Given the description of an element on the screen output the (x, y) to click on. 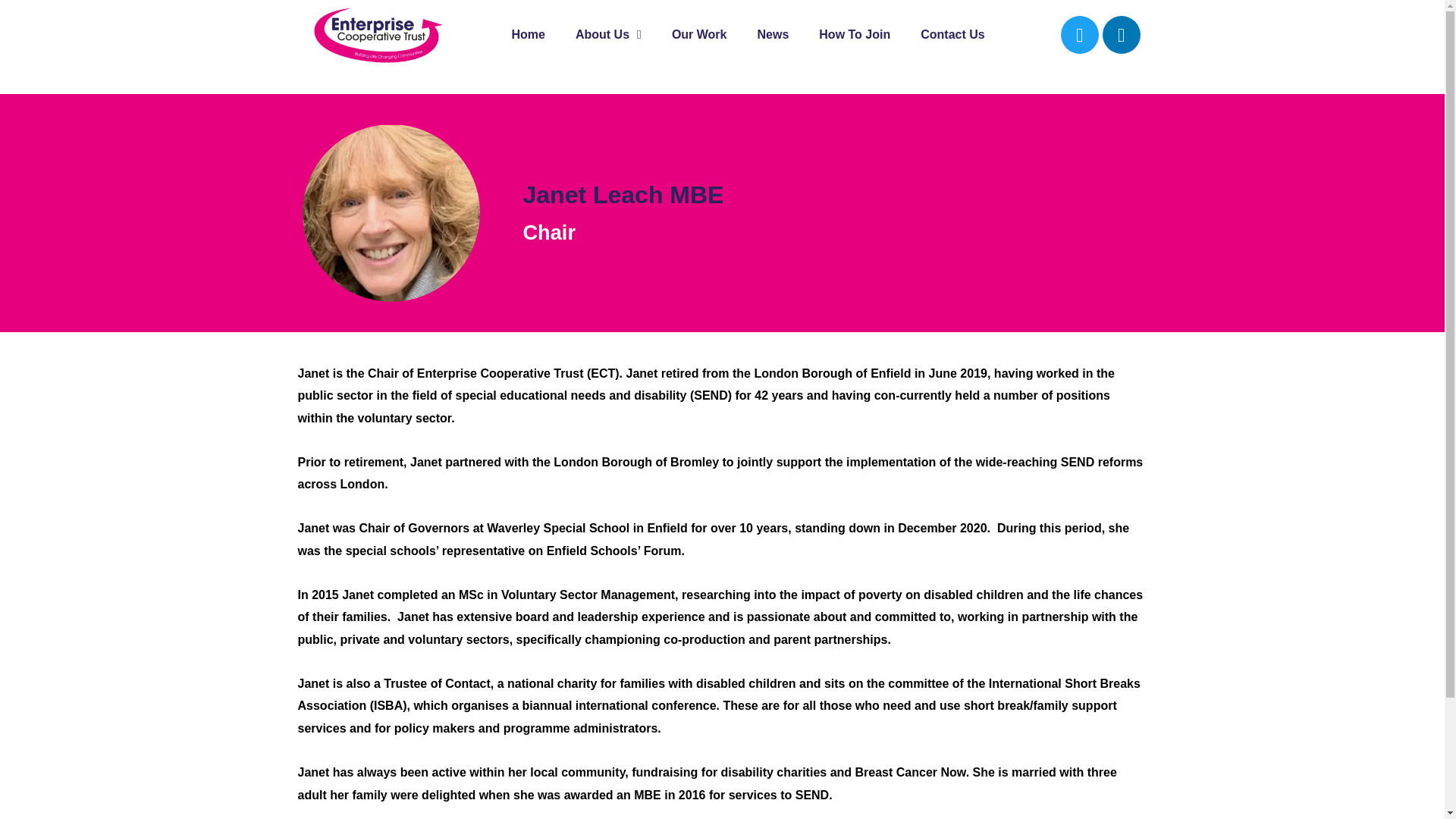
Linkedin (1121, 34)
Twitter (1080, 34)
Home (527, 34)
How To Join (854, 34)
Contact Us (951, 34)
News (772, 34)
About Us (608, 34)
Our Work (699, 34)
